Given the description of an element on the screen output the (x, y) to click on. 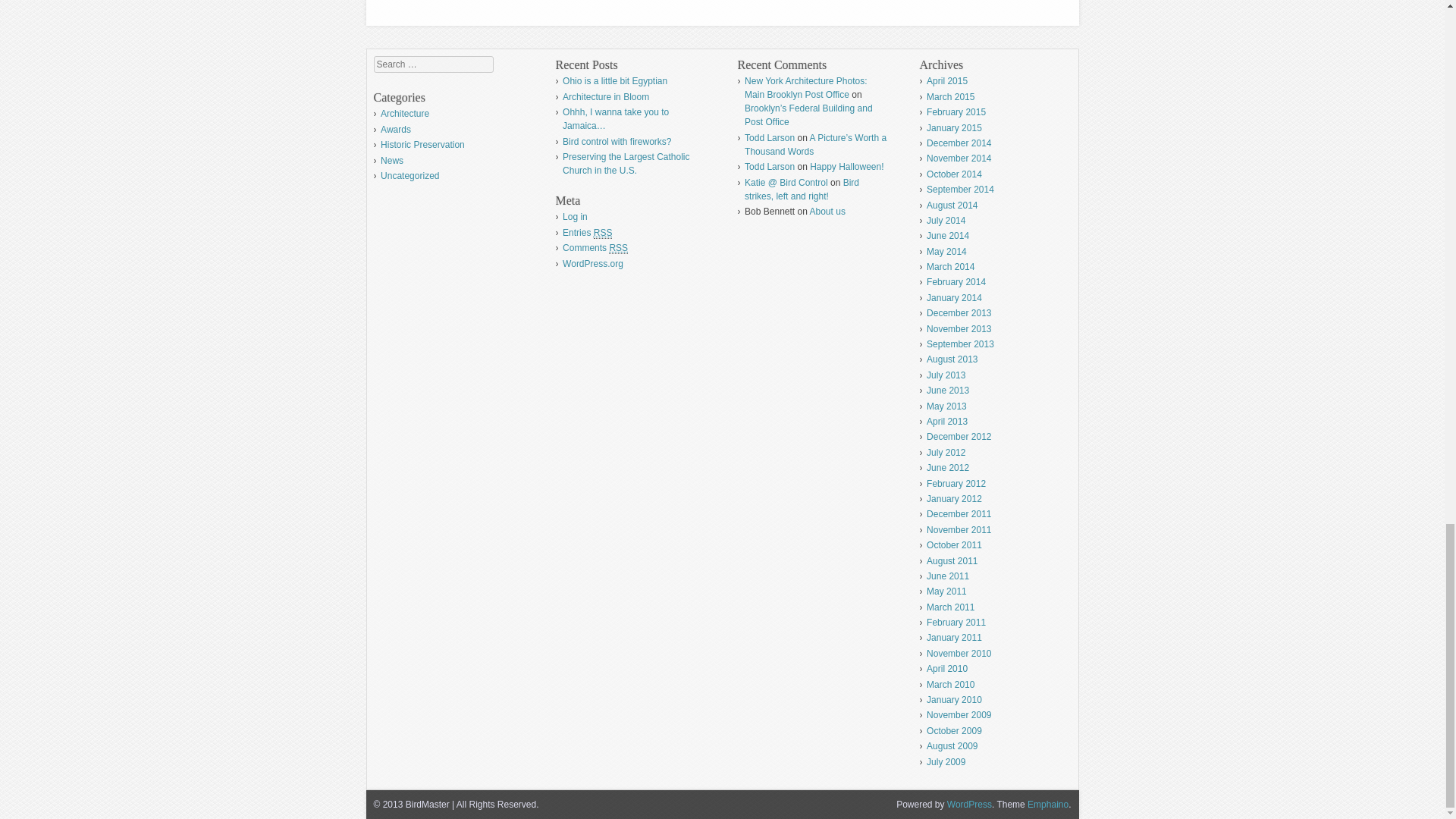
September 2014 (960, 189)
Architecture in Bloom (605, 96)
About us (827, 211)
Todd Larson (769, 137)
A Semantic Personal Publishing Platform (969, 804)
January 2015 (953, 127)
Really Simple Syndication (603, 233)
Preserving the Largest Catholic Church in the U.S. (625, 163)
Really Simple Syndication (617, 247)
New York Architecture Photos: Main Brooklyn Post Office (805, 87)
